Given the description of an element on the screen output the (x, y) to click on. 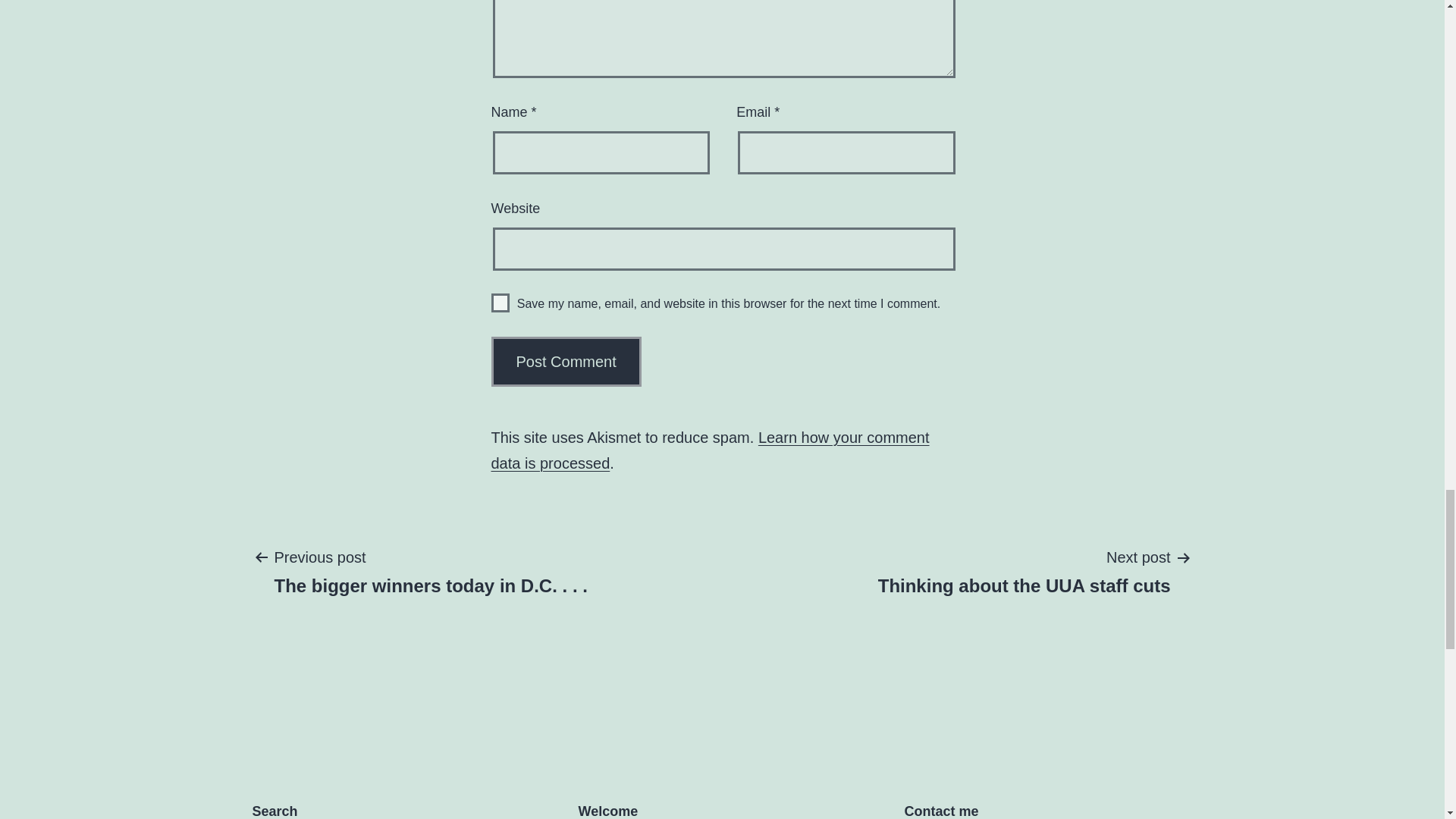
yes (500, 302)
Post Comment (1024, 570)
Learn how your comment data is processed (567, 361)
Post Comment (711, 450)
